Given the description of an element on the screen output the (x, y) to click on. 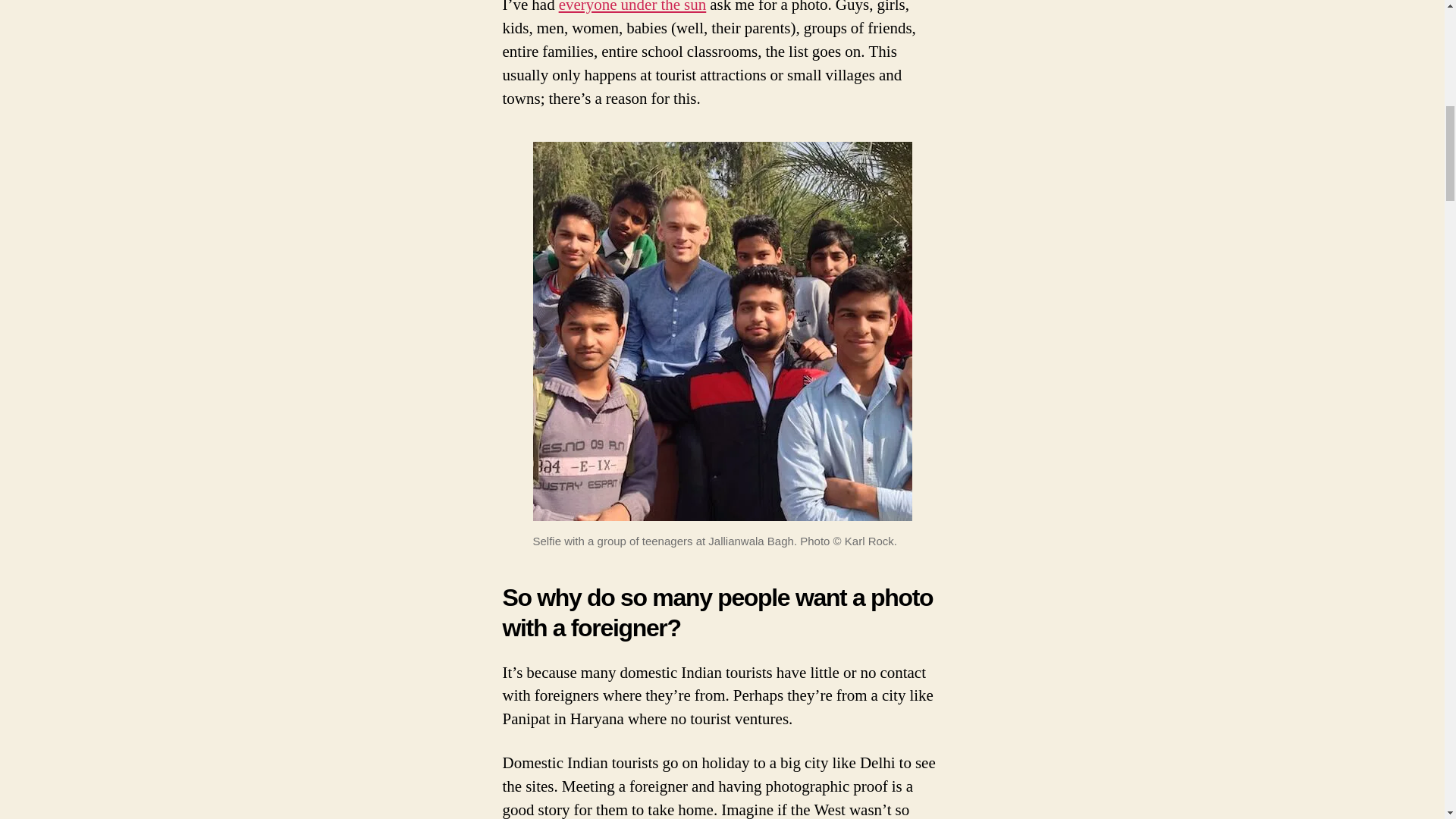
everyone under the sun (632, 7)
